Given the description of an element on the screen output the (x, y) to click on. 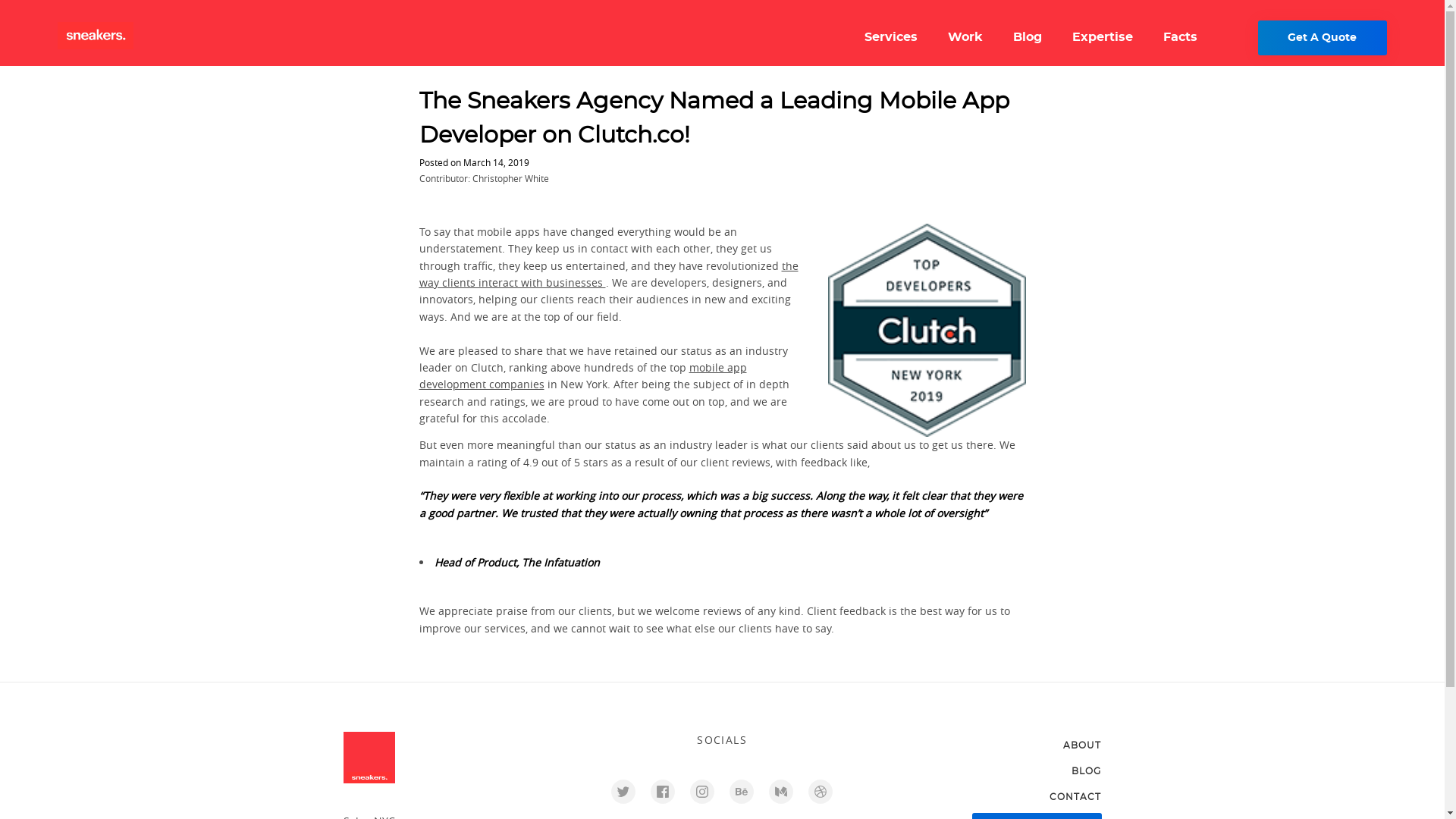
CONTACT (1075, 796)
mobile app development companies (582, 375)
ABOUT (1082, 745)
the way clients interact with businesses (608, 273)
Expertise (1101, 37)
Services (890, 37)
BLOG (1085, 771)
Get A Quote (1322, 37)
Blog (1027, 37)
Facts (1179, 37)
